Given the description of an element on the screen output the (x, y) to click on. 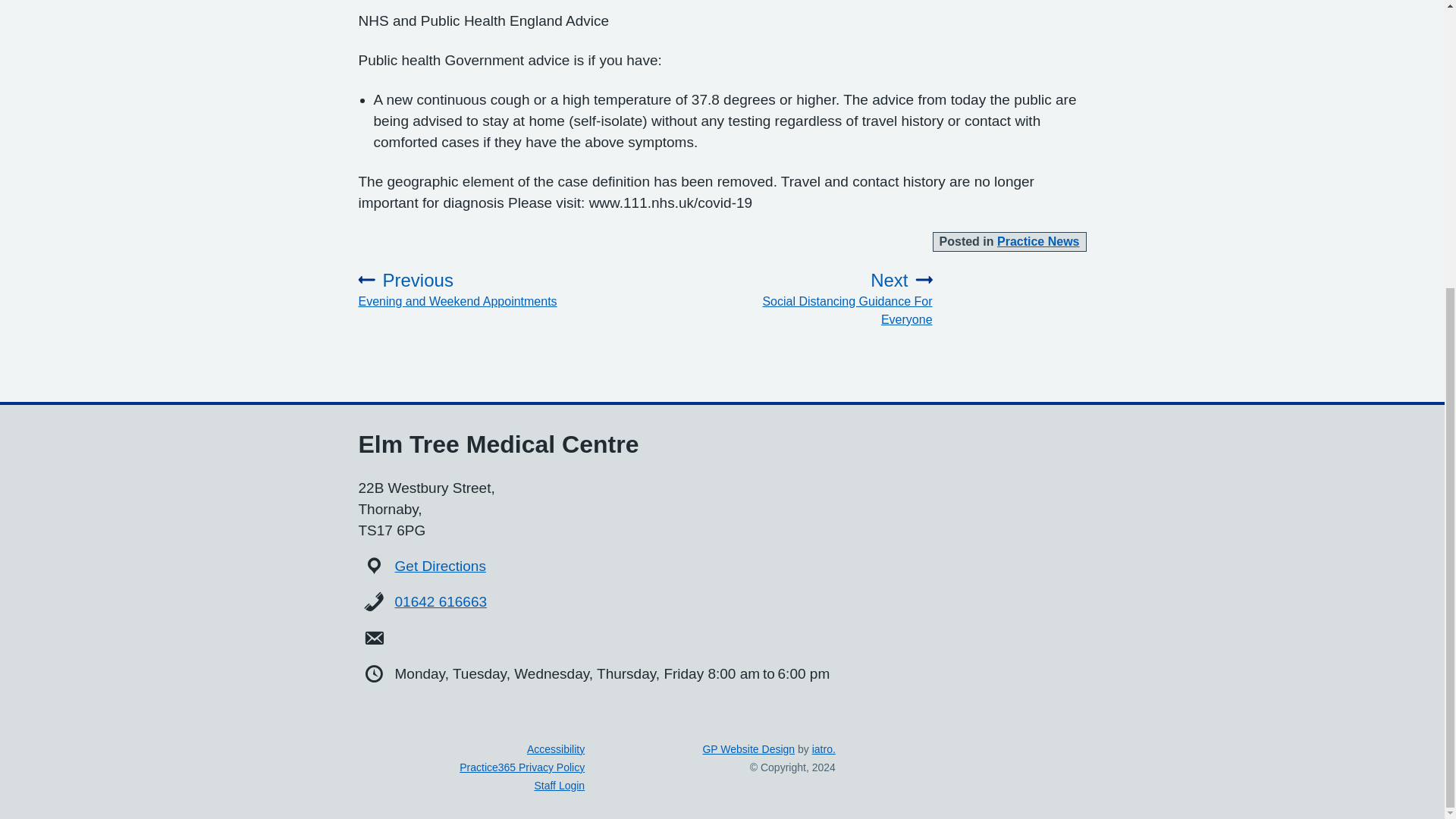
Accessibility (556, 748)
01642 616663 (440, 601)
Get Directions (440, 565)
iatro. (823, 748)
Practice365 Privacy Policy (522, 767)
GP Website Design (823, 298)
Staff Login (467, 289)
Practice News (747, 748)
